Given the description of an element on the screen output the (x, y) to click on. 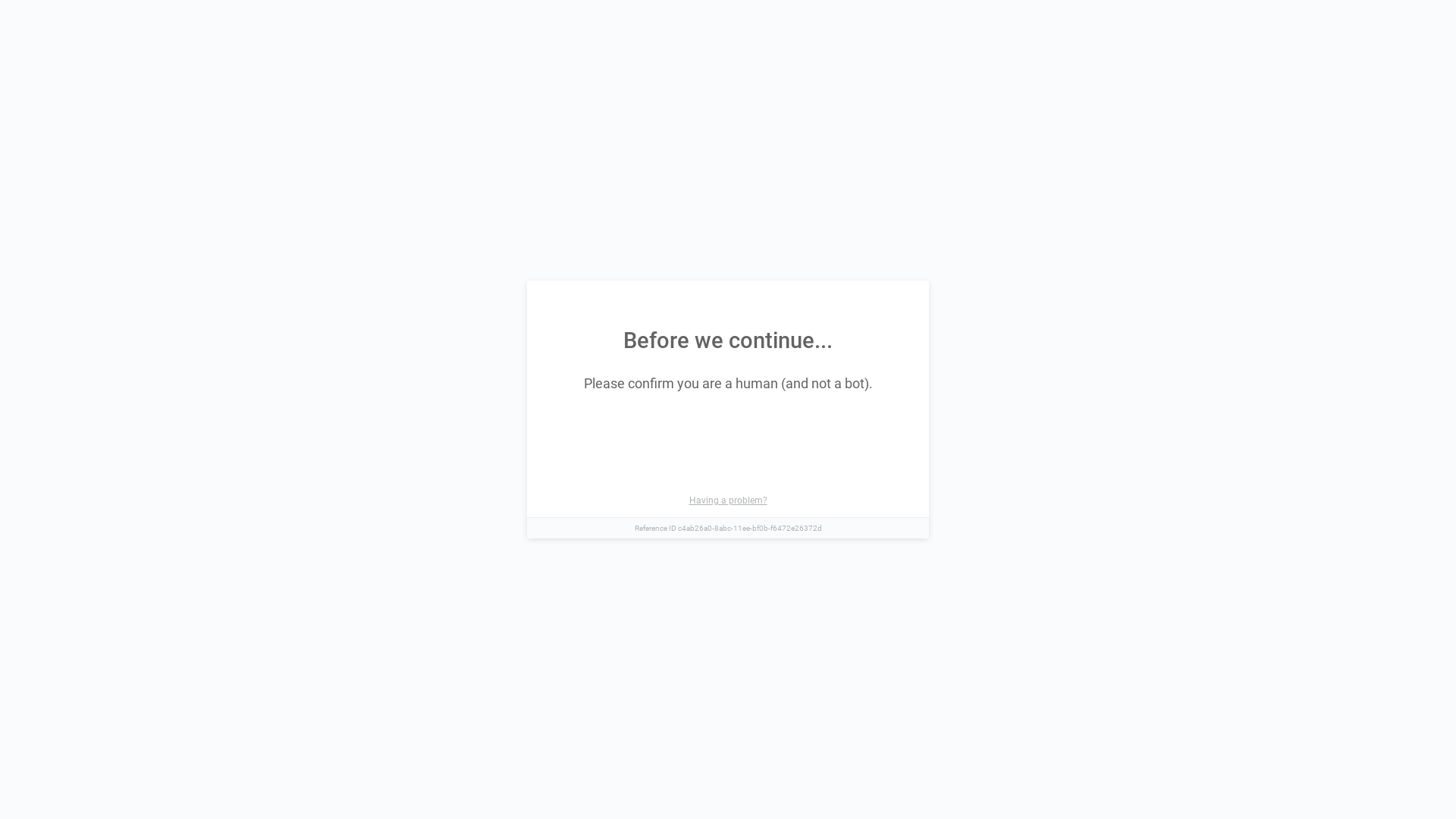
Having a problem? Element type: text (727, 500)
